Given the description of an element on the screen output the (x, y) to click on. 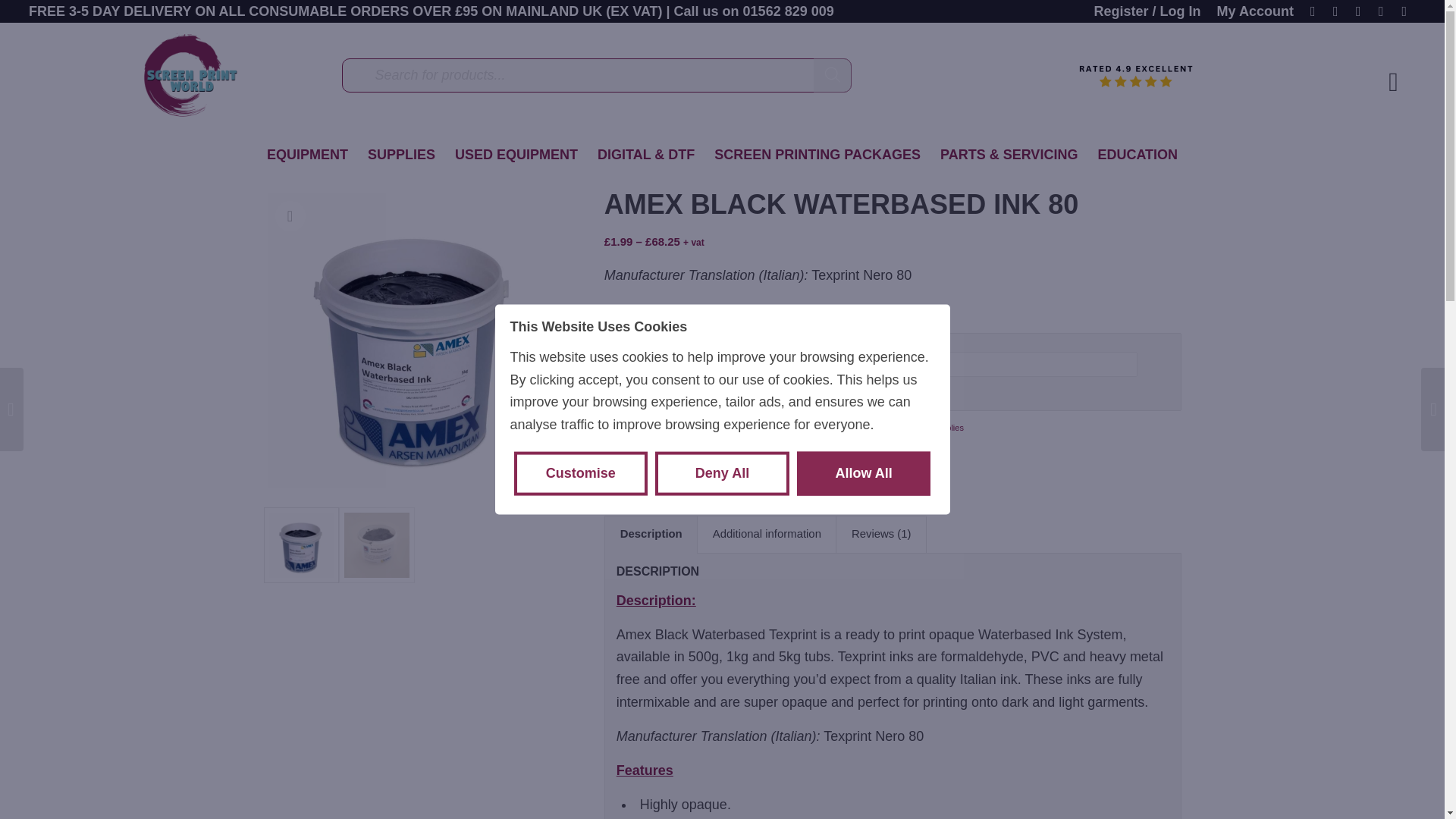
Instagram (1312, 11)
Facebook (1335, 11)
01562 829 009 (788, 11)
View brand (621, 457)
My Account (1255, 12)
Additional information (766, 534)
images (414, 340)
EQUIPMENT (307, 154)
Description (650, 534)
Youtube (1380, 11)
Twitter (1359, 11)
LinkedIn (1404, 11)
